Given the description of an element on the screen output the (x, y) to click on. 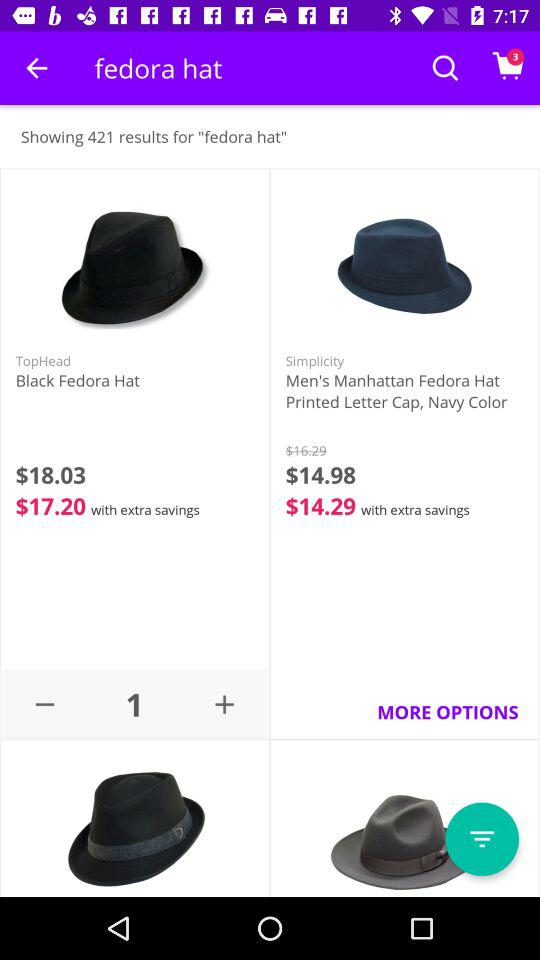
next button (482, 839)
